Given the description of an element on the screen output the (x, y) to click on. 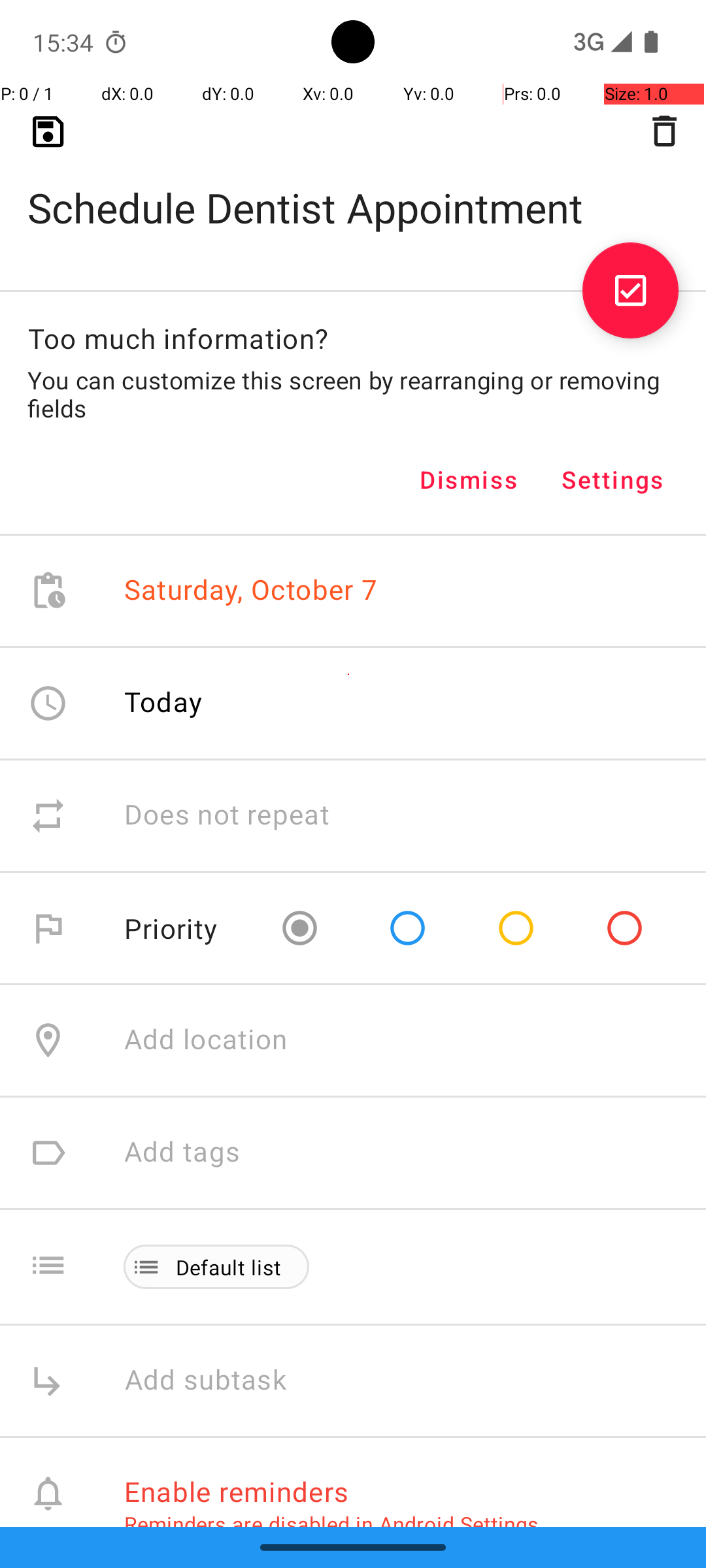
Saturday, October 7 Element type: android.widget.TextView (250, 590)
